Given the description of an element on the screen output the (x, y) to click on. 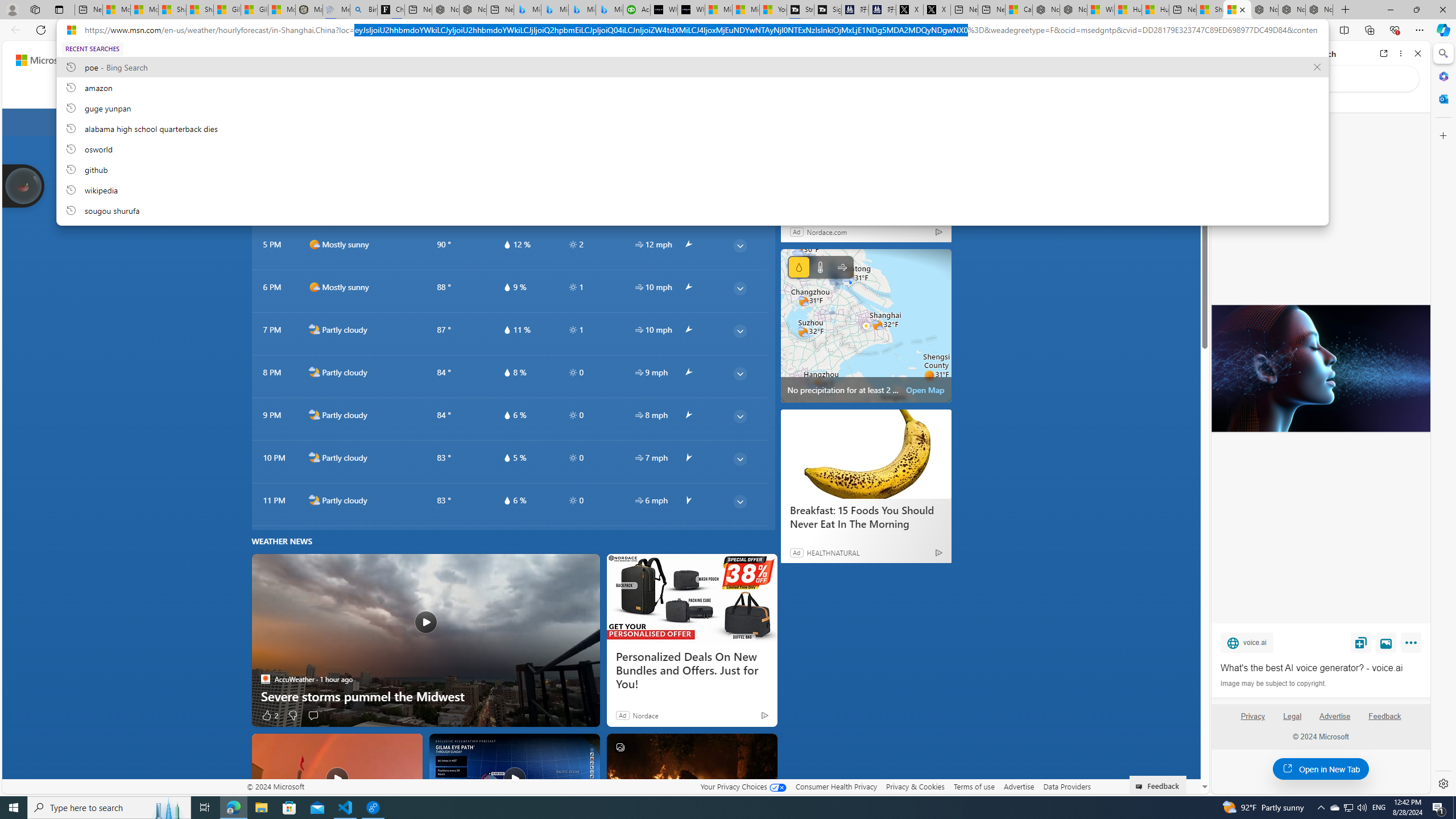
Nordace - Best Sellers (1264, 9)
Outlook (1442, 98)
Join us in planting real trees to help our planet! (23, 185)
Notifications (1152, 60)
Feedback (1384, 720)
Open link in new tab (1383, 53)
Join us in planting real trees to help our planet! (23, 184)
poe, recent searches from history (691, 66)
Hourly (381, 92)
Address and search bar (701, 29)
No precipitation for at least 2 hours (866, 325)
common/carouselChevron (911, 122)
